Given the description of an element on the screen output the (x, y) to click on. 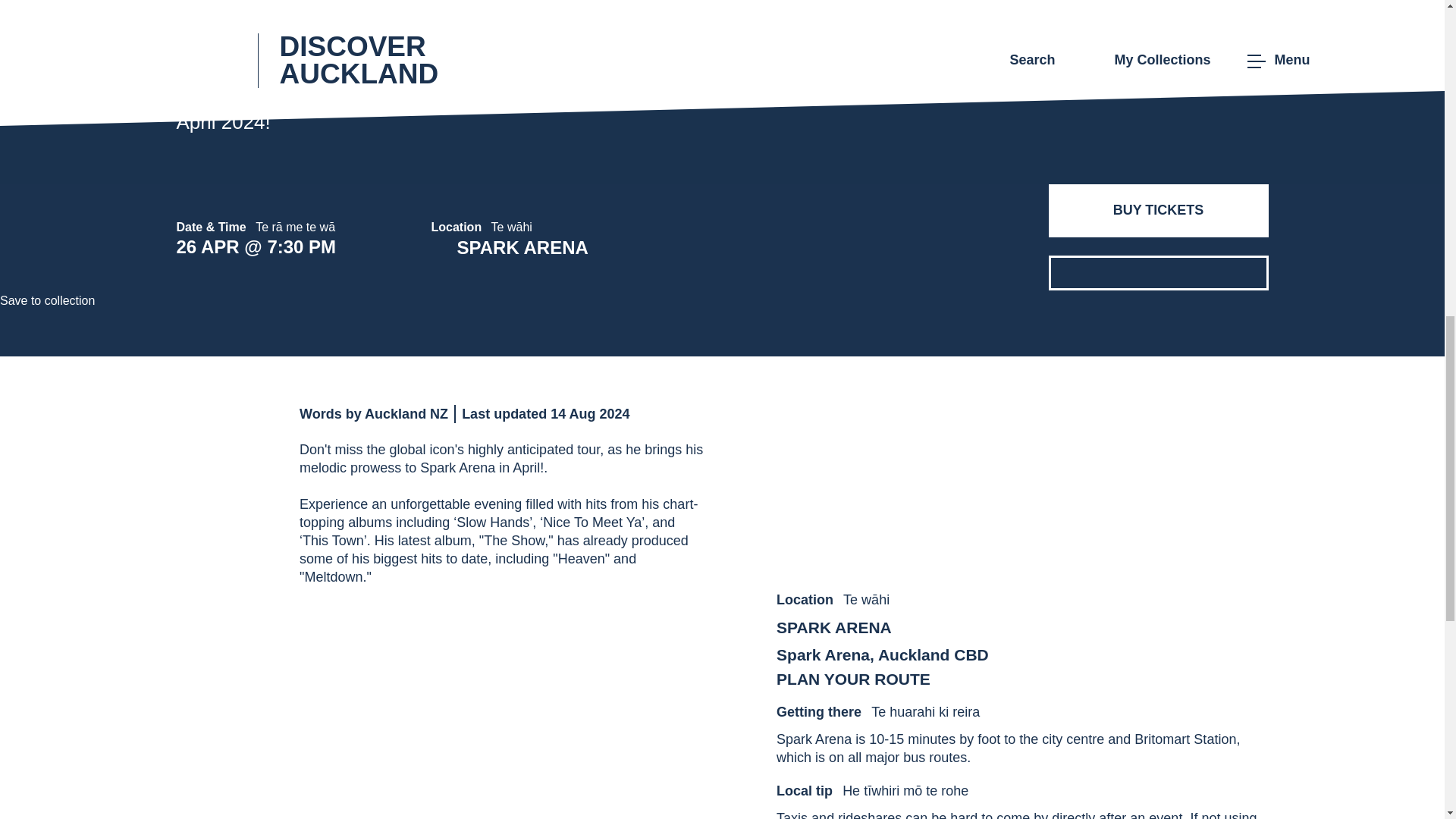
SPARK ARENA (551, 247)
BUY TICKETS (1158, 210)
PLAN YOUR ROUTE (882, 679)
SPARK ARENA (882, 628)
